Given the description of an element on the screen output the (x, y) to click on. 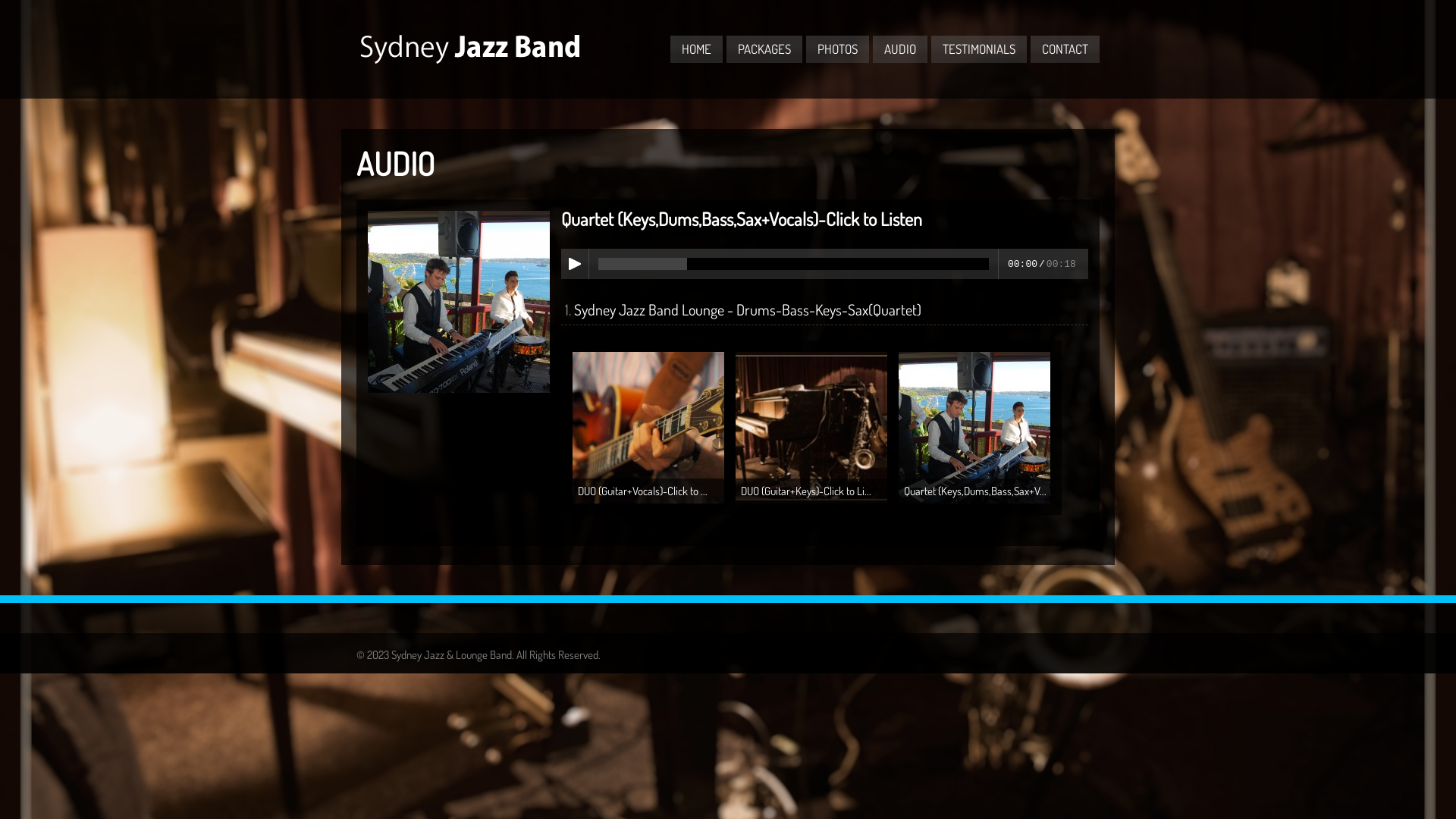
HOME Element type: text (696, 48)
DUO (Guitar+Keys)-Click to Li... Element type: text (811, 498)
Quartet (Keys,Dums,Bass,Sax+V... Element type: text (974, 498)
AUDIO Element type: text (899, 48)
PACKAGES Element type: text (764, 48)
Sydney Jazz Band Lounge - Drums-Bass-Keys-Sax(Quartet) Element type: text (747, 308)
PHOTOS Element type: text (837, 48)
TESTIMONIALS Element type: text (978, 48)
DUO (Guitar+Vocals)-Click to ... Element type: text (648, 498)
CONTACT Element type: text (1064, 48)
